Given the description of an element on the screen output the (x, y) to click on. 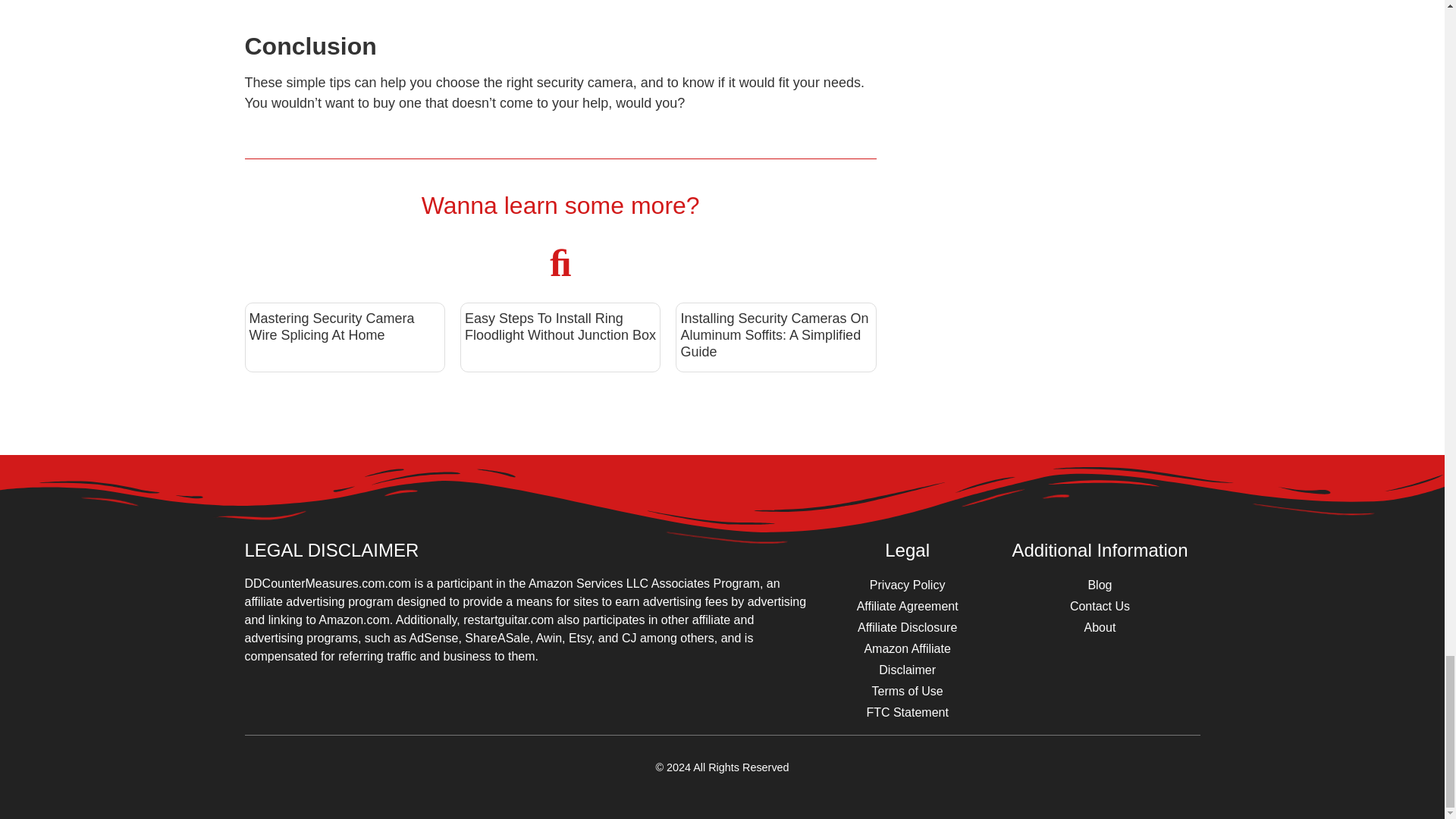
Privacy Policy (907, 585)
FTC Statement (907, 712)
Easy Steps To Install Ring Floodlight Without Junction Box (560, 327)
Terms of Use (907, 690)
Mastering Security Camera Wire Splicing At Home (330, 327)
Amazon Affiliate (907, 649)
Disclaimer (907, 670)
Affiliate Disclosure (907, 627)
Affiliate Agreement (907, 606)
